Given the description of an element on the screen output the (x, y) to click on. 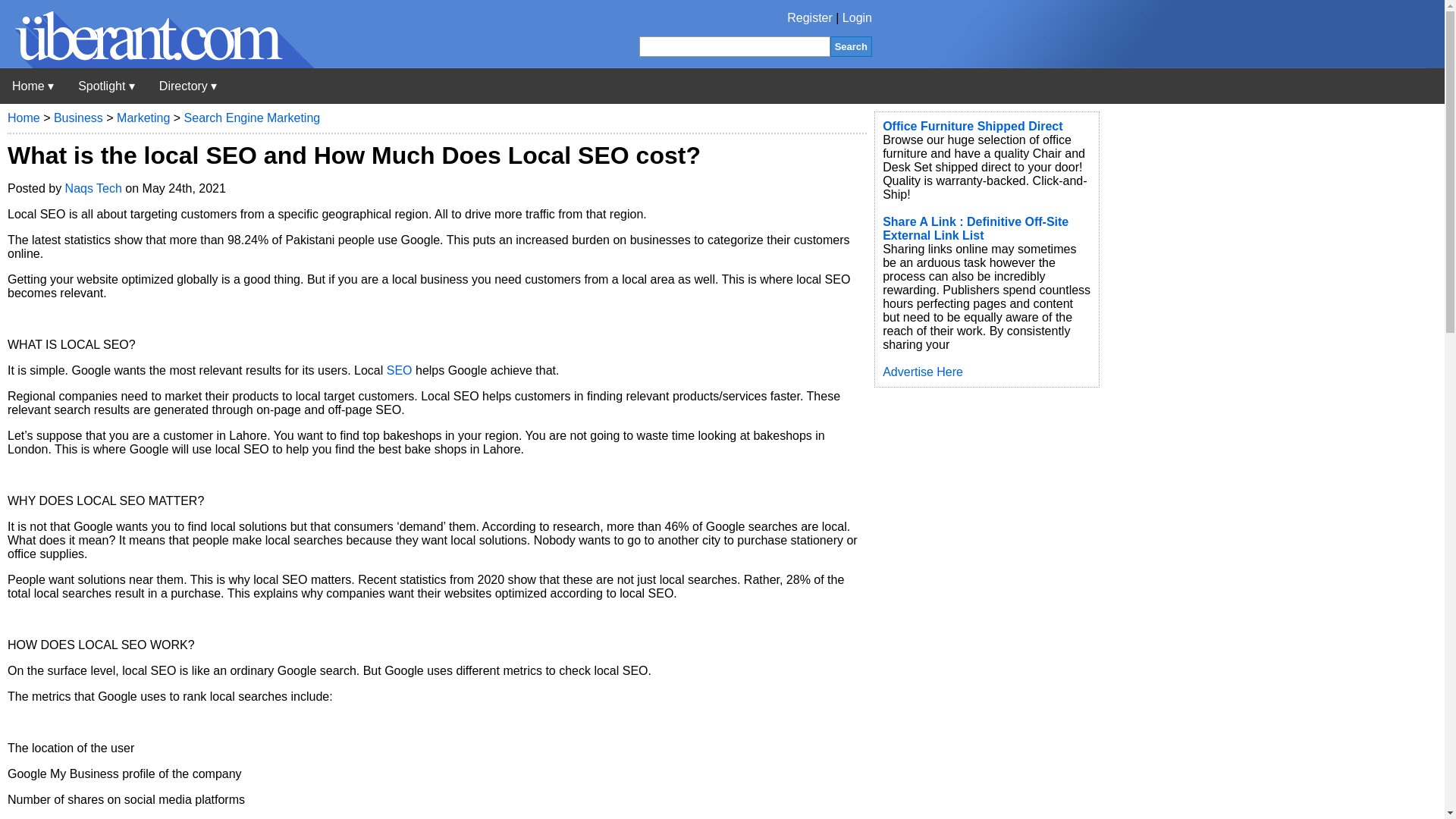
Uberant (32, 85)
Register (809, 17)
Uberant (157, 63)
Search (850, 46)
Search (850, 46)
Login (857, 17)
